Given the description of an element on the screen output the (x, y) to click on. 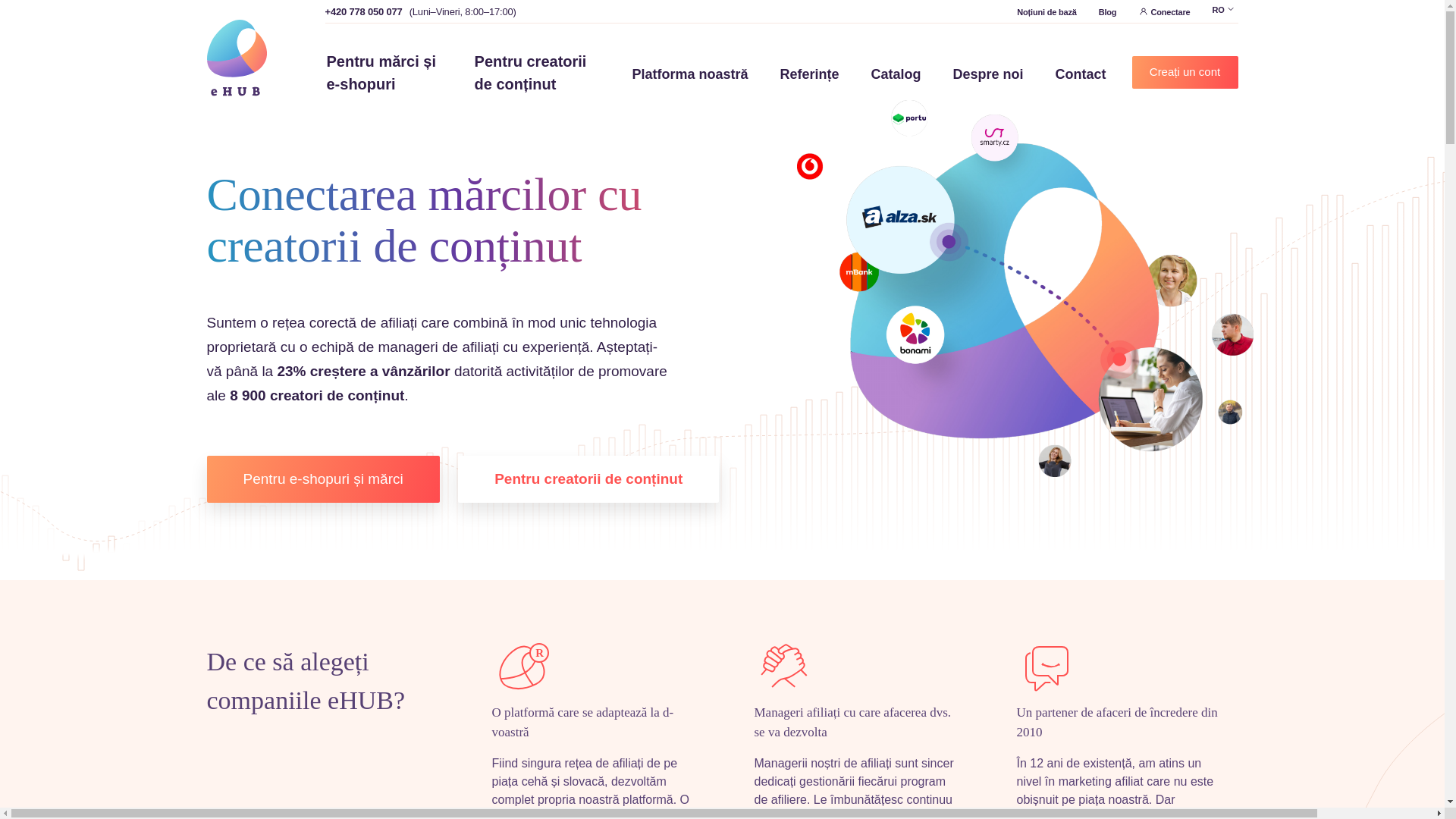
Despre noi (987, 73)
Catalog (895, 73)
Conectare (1163, 11)
Blog (1107, 11)
Contact (1080, 73)
